Given the description of an element on the screen output the (x, y) to click on. 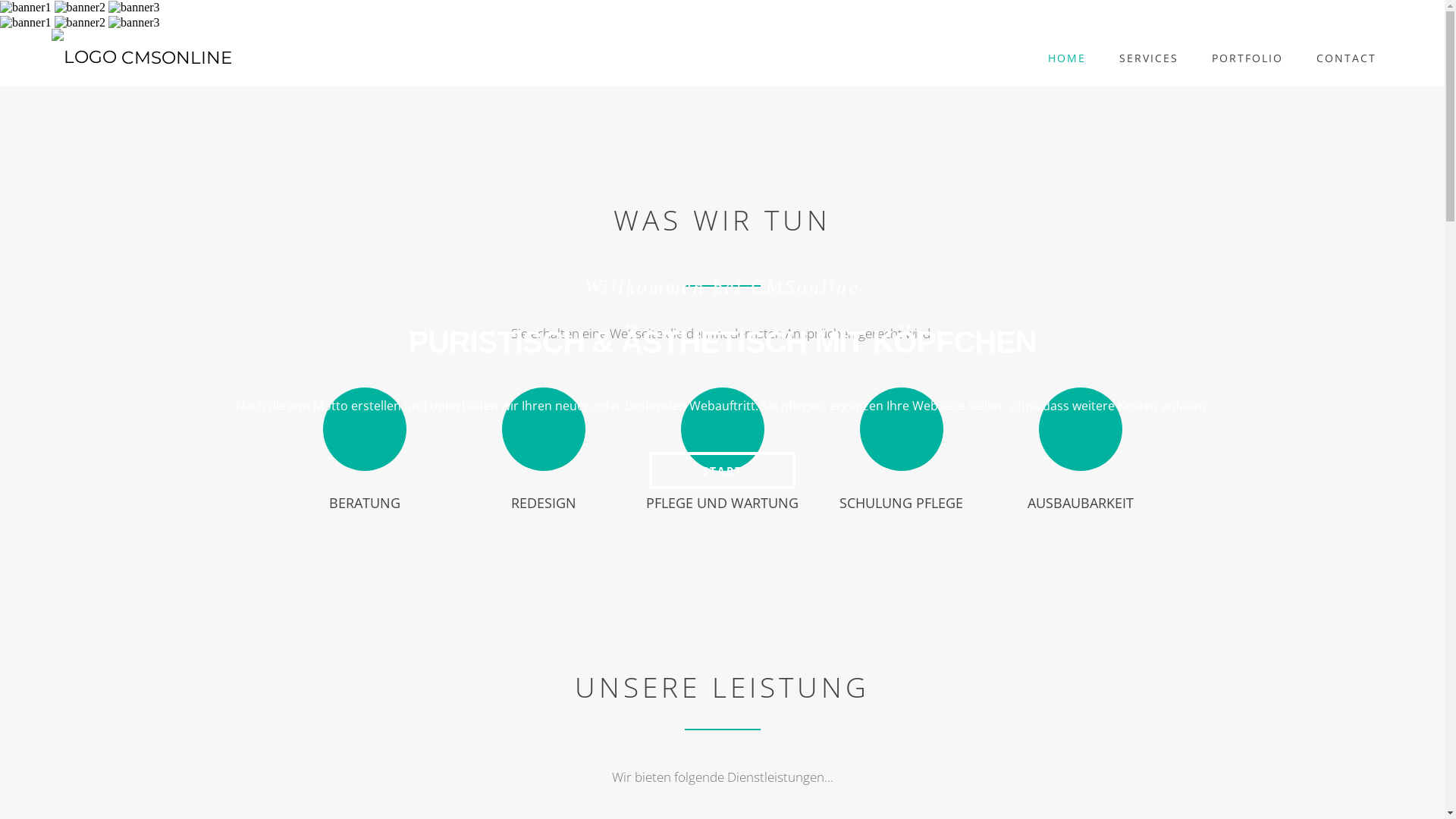
CMSONLINE Element type: text (141, 57)
SERVICES Element type: text (1148, 57)
START Element type: text (722, 470)
CONTACT Element type: text (1346, 57)
PORTFOLIO Element type: text (1247, 57)
HOME Element type: text (1066, 57)
